Given the description of an element on the screen output the (x, y) to click on. 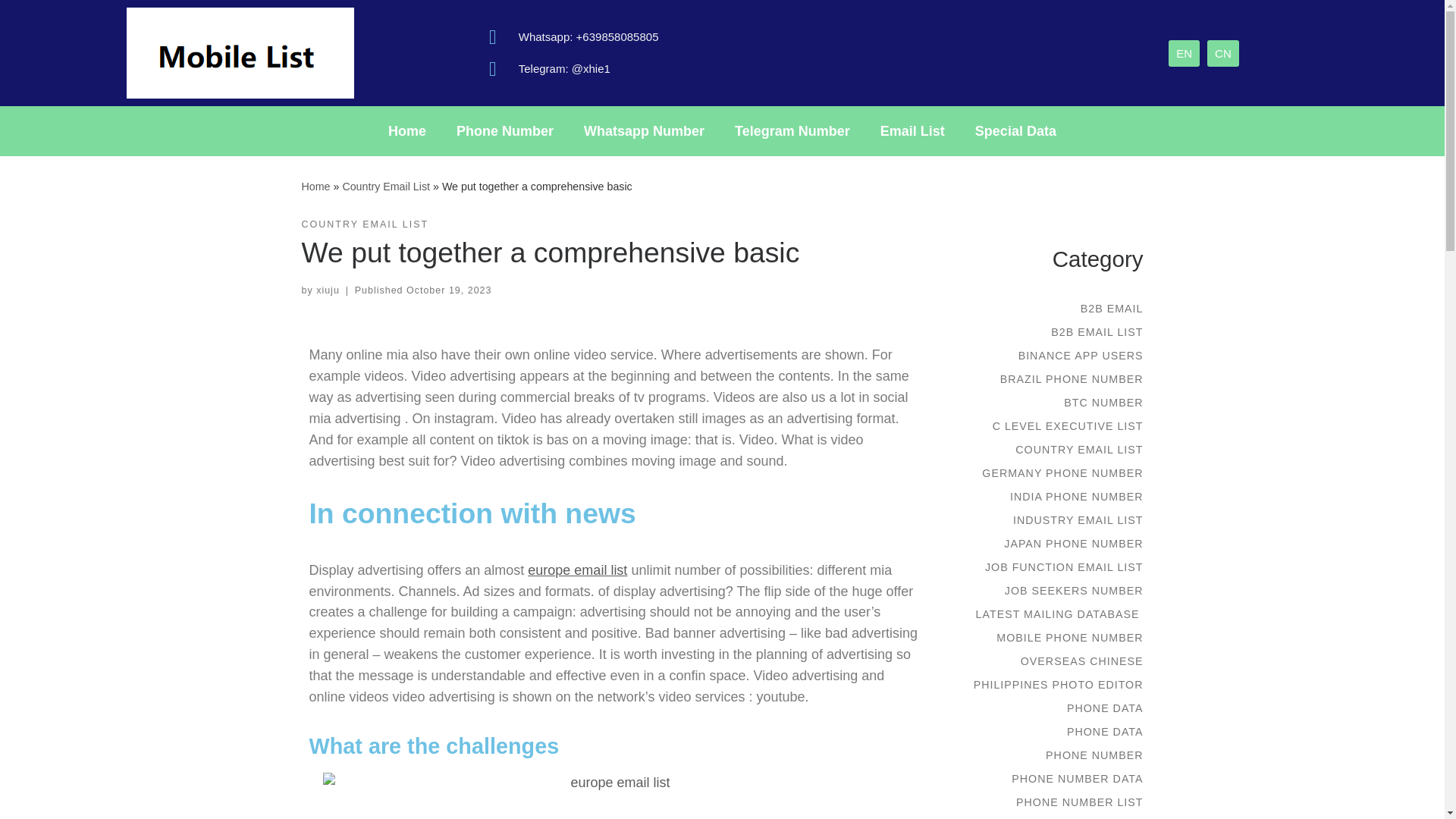
October 19, 2023 (449, 290)
CN (1223, 52)
Special Data (1015, 130)
Home (315, 186)
Email List (911, 130)
COUNTRY EMAIL LIST (365, 224)
Phone Number (505, 130)
2:48 am (449, 290)
EN (1184, 52)
Country Email List (385, 186)
